Given the description of an element on the screen output the (x, y) to click on. 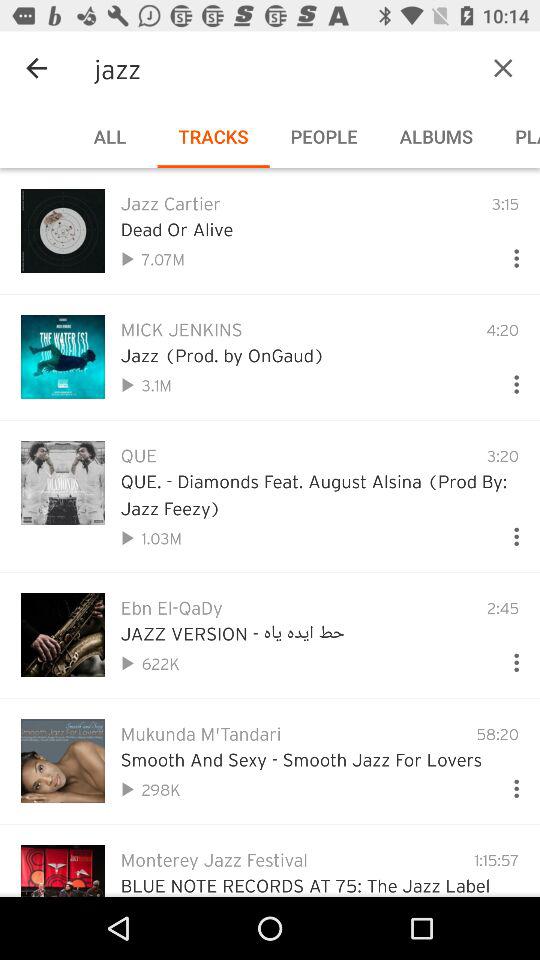
see more options (508, 380)
